Given the description of an element on the screen output the (x, y) to click on. 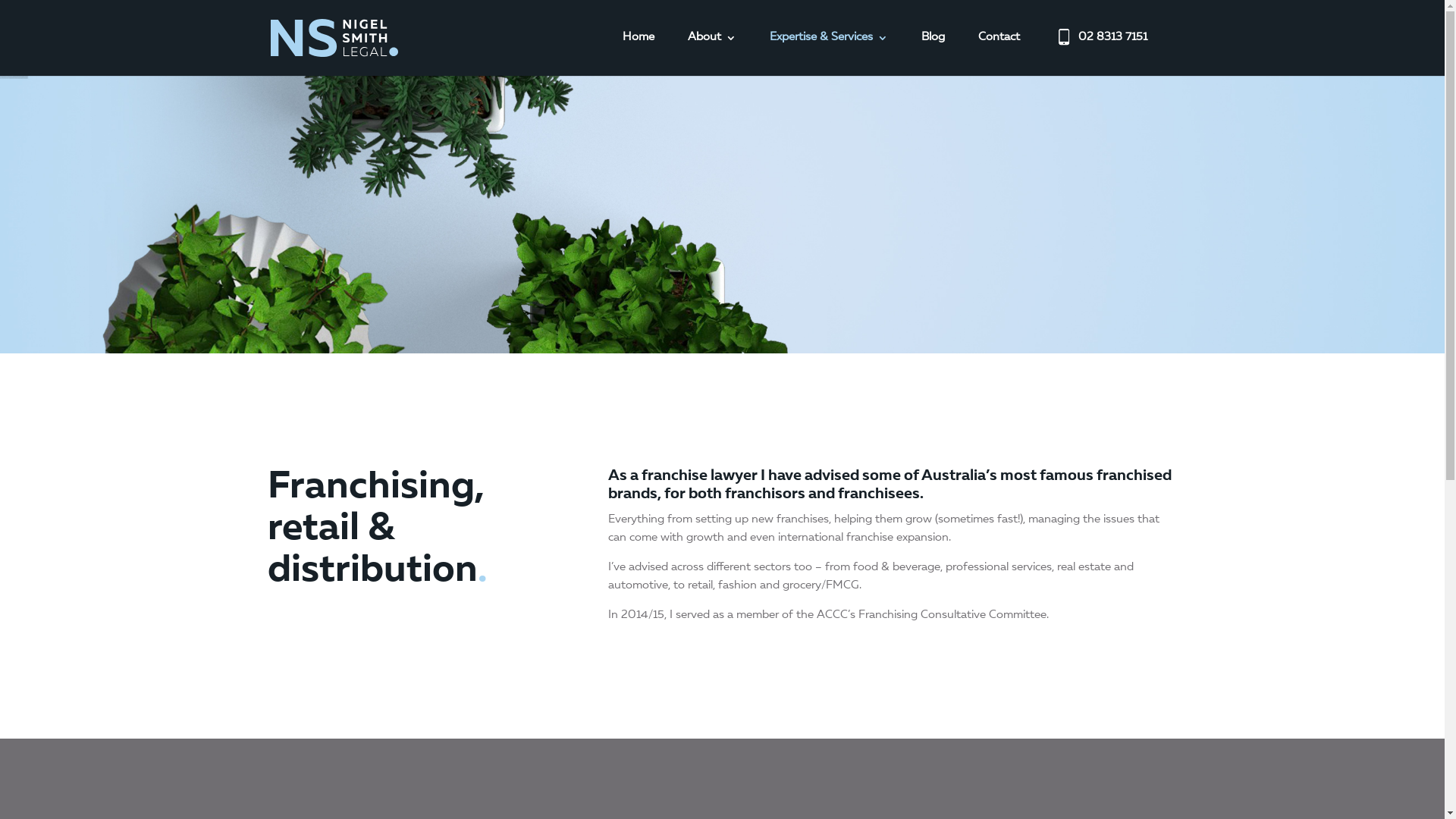
Contact Element type: text (998, 52)
Blog Element type: text (932, 52)
About Element type: text (711, 52)
Expertise & Services Element type: text (827, 52)
Home Element type: text (637, 52)
02 8313 7151 Element type: text (1099, 52)
